Given the description of an element on the screen output the (x, y) to click on. 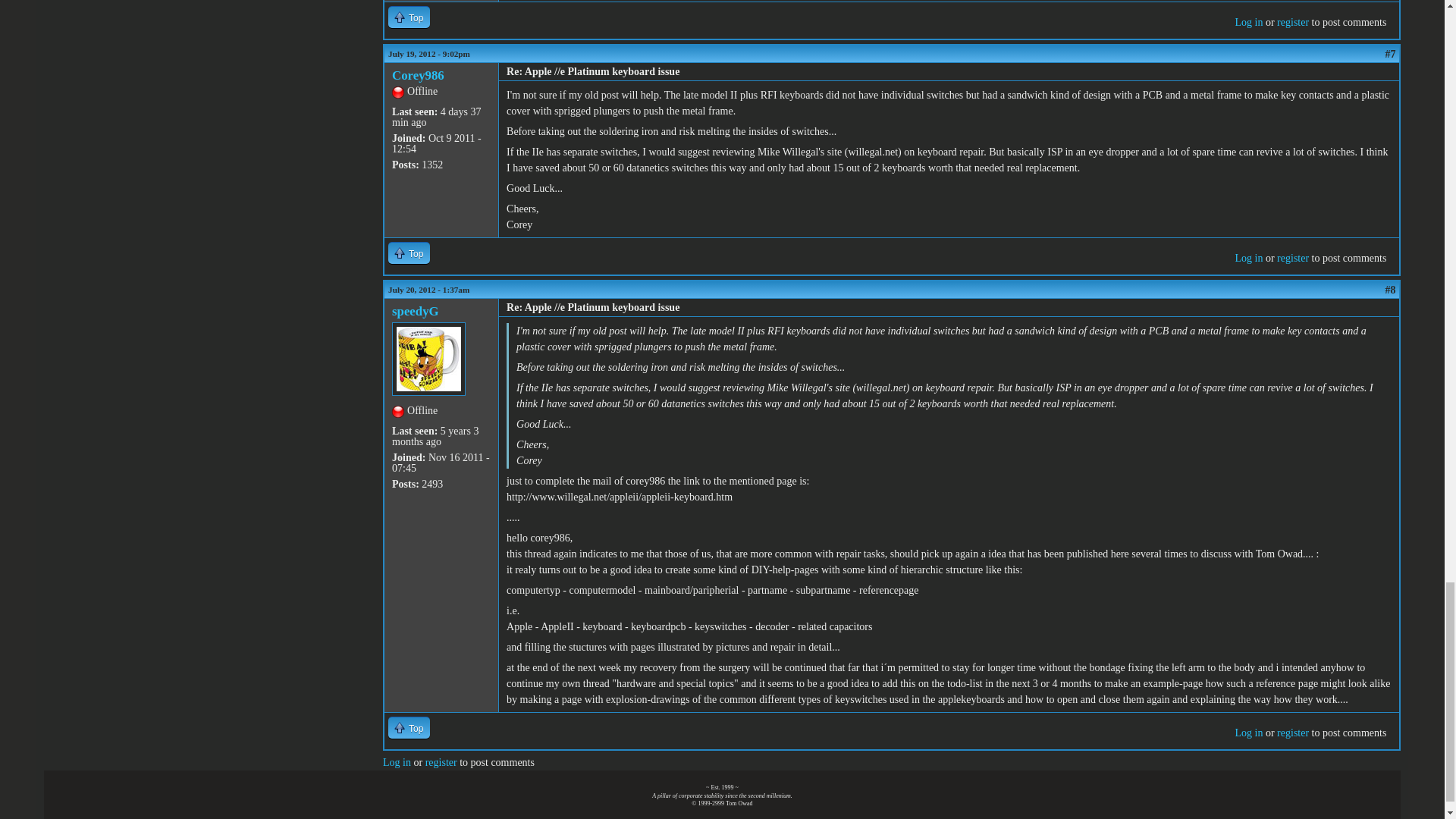
Jump to top of page (408, 16)
View user profile. (417, 74)
Jump to top of page (408, 252)
